Given the description of an element on the screen output the (x, y) to click on. 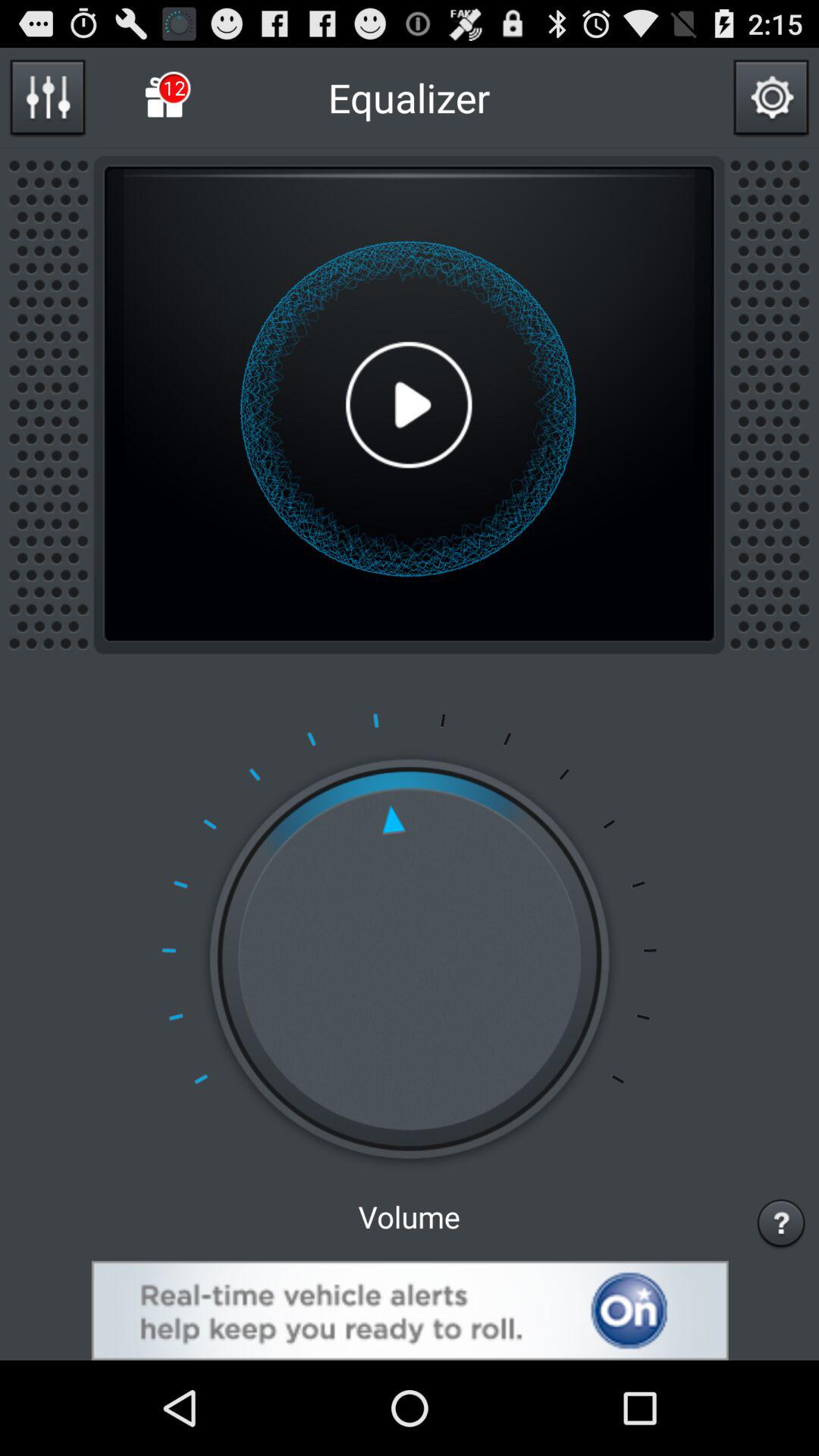
click to help (781, 1222)
